Given the description of an element on the screen output the (x, y) to click on. 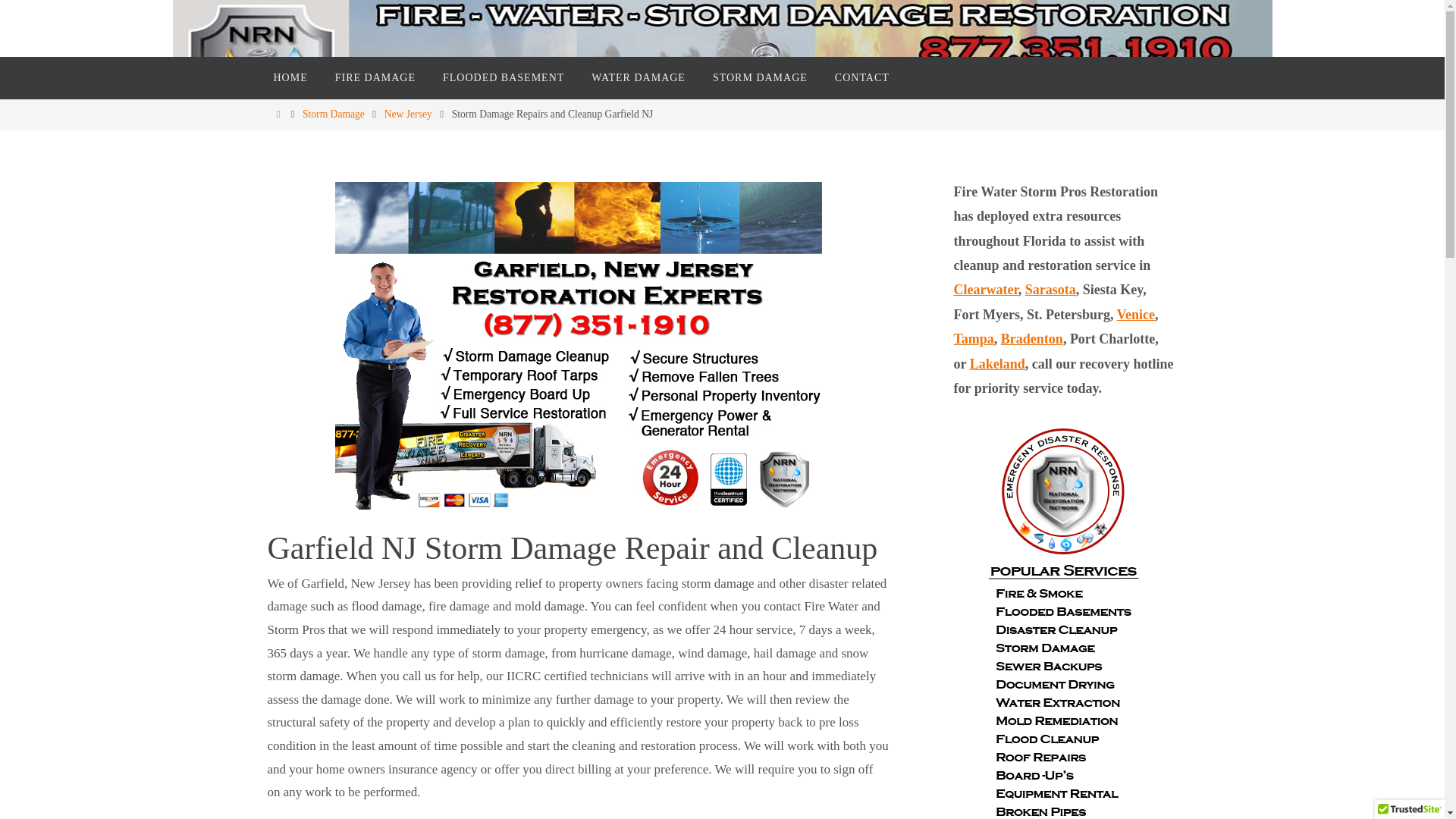
STORM DAMAGE (759, 77)
Bradenton (1031, 339)
Storm Damage (333, 113)
CONTACT (861, 77)
Tampa (973, 339)
FLOODED BASEMENT (503, 77)
New Jersey (408, 113)
Home (277, 113)
WATER DAMAGE (638, 77)
Venice (1135, 314)
Lakeland (997, 364)
FIRE DAMAGE (375, 77)
